Given the description of an element on the screen output the (x, y) to click on. 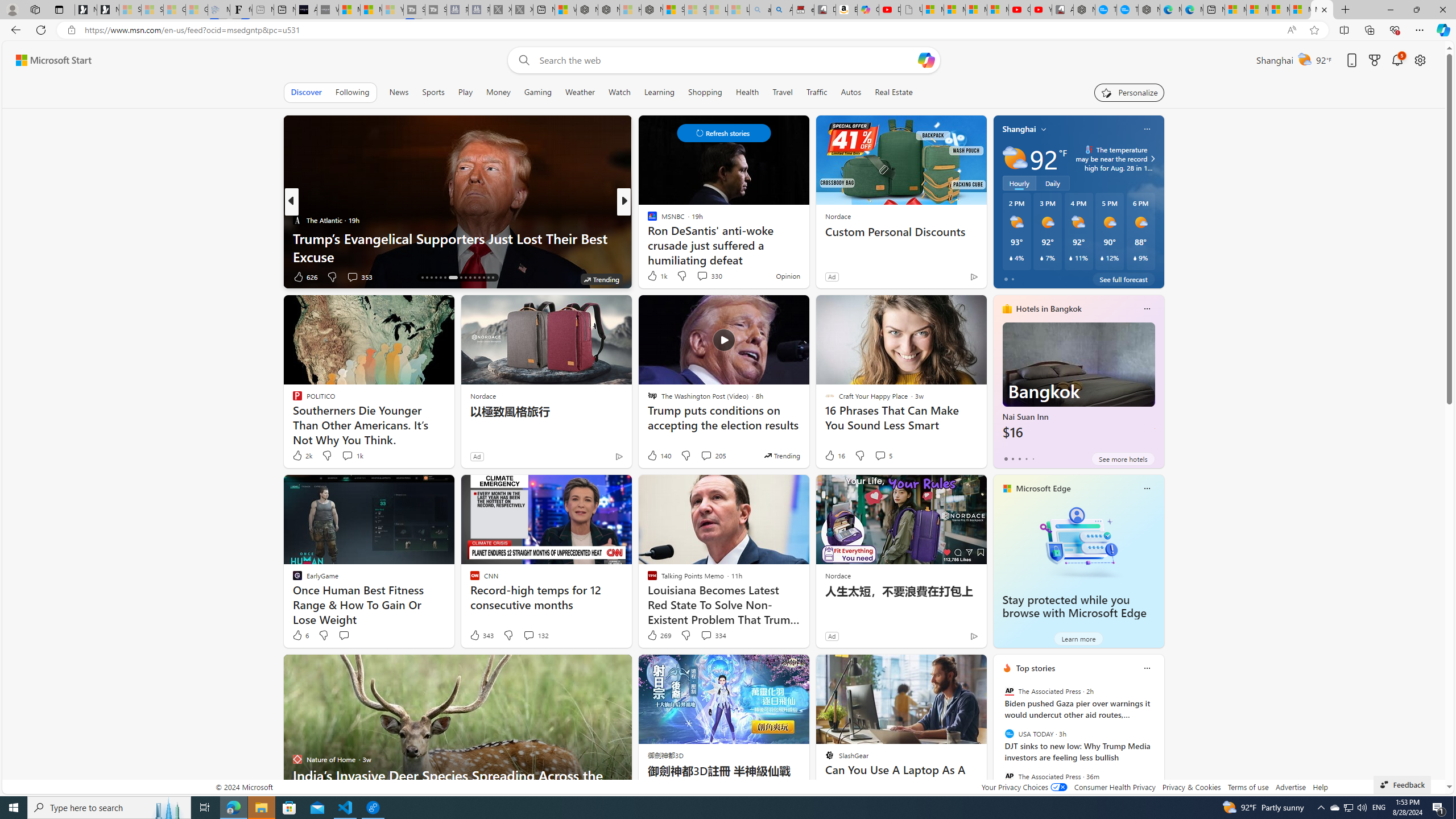
View comments 213 Comment (6, 276)
Advertise (1290, 786)
View comments 5 Comment (879, 455)
Nordace - My Account (1083, 9)
AutomationID: tab-29 (488, 277)
This story is trending (781, 455)
Shopping (705, 92)
Partly sunny (1014, 158)
Watch (619, 92)
View comments 334 Comment (705, 635)
AutomationID: tab-24 (465, 277)
